Given the description of an element on the screen output the (x, y) to click on. 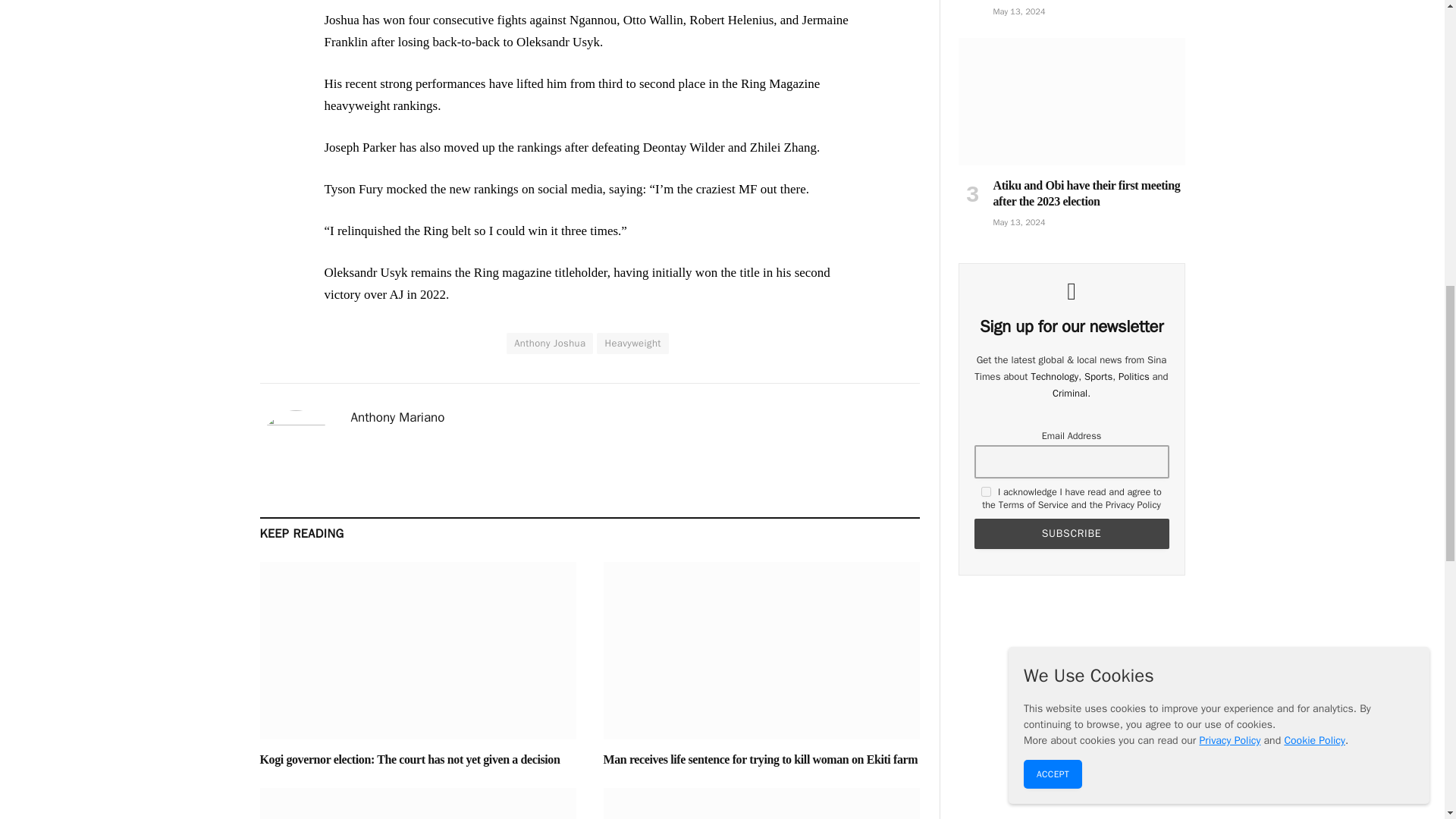
Subscribe (1071, 533)
on (986, 491)
